Given the description of an element on the screen output the (x, y) to click on. 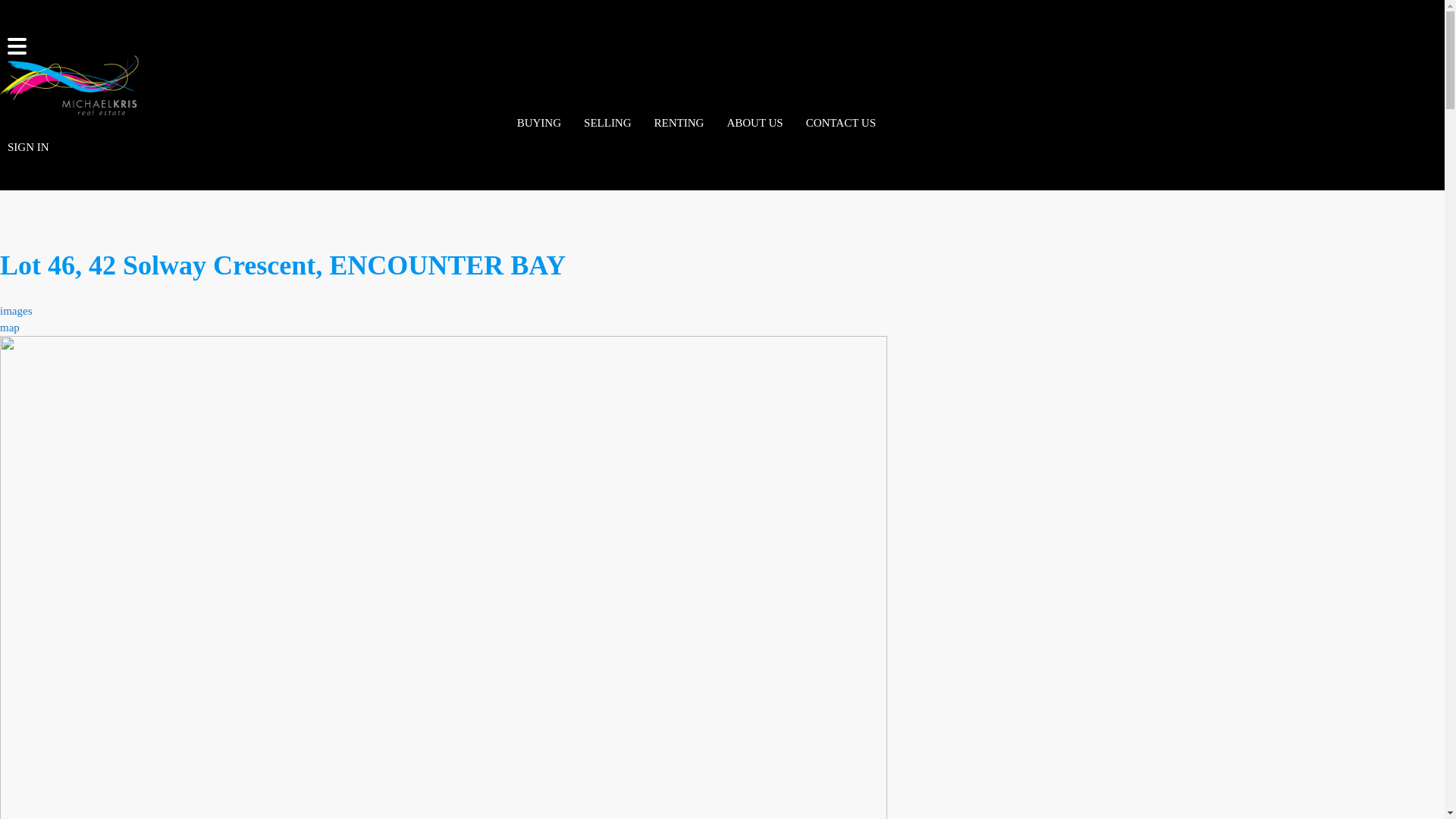
ABOUT US Element type: text (754, 122)
SELLING Element type: text (607, 122)
map Element type: text (9, 327)
CONTACT US Element type: text (840, 122)
images Element type: text (16, 310)
BUYING Element type: text (538, 122)
SIGN IN Element type: text (28, 147)
RENTING Element type: text (679, 122)
